Given the description of an element on the screen output the (x, y) to click on. 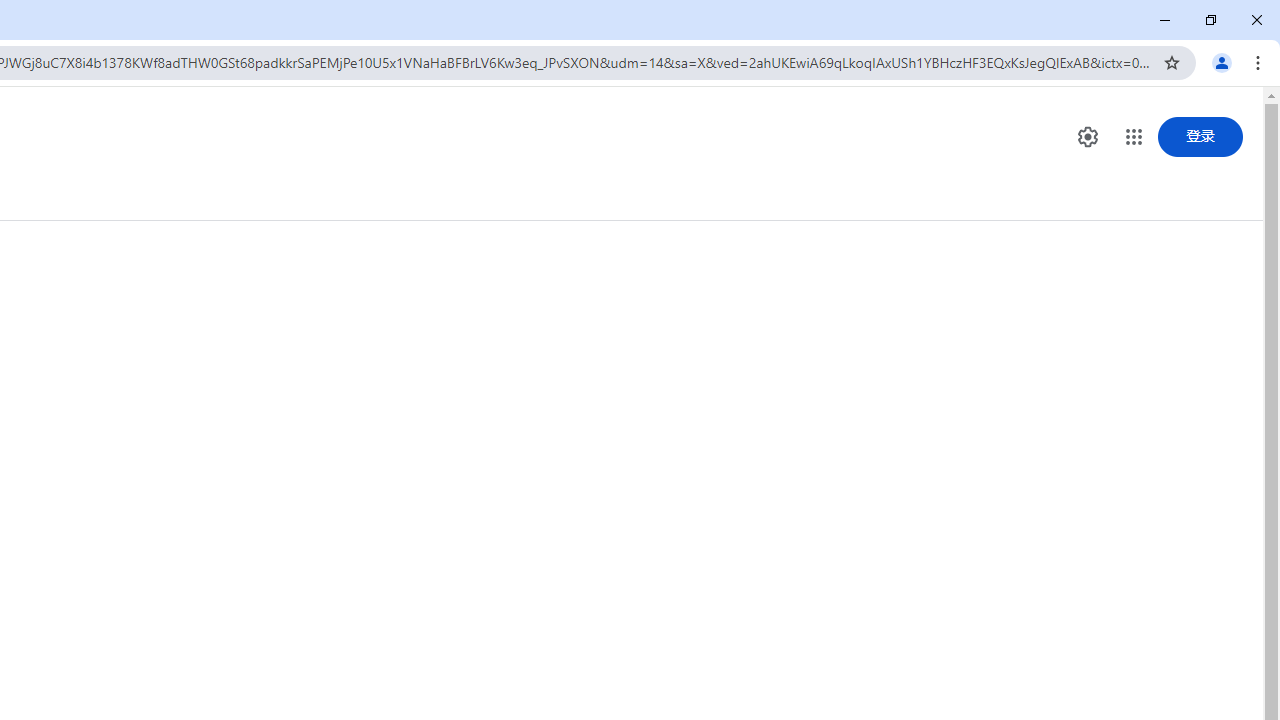
Bookmark this tab (1171, 62)
Close (1256, 20)
Restore (1210, 20)
Minimize (1165, 20)
You (1221, 62)
Chrome (1260, 62)
